Given the description of an element on the screen output the (x, y) to click on. 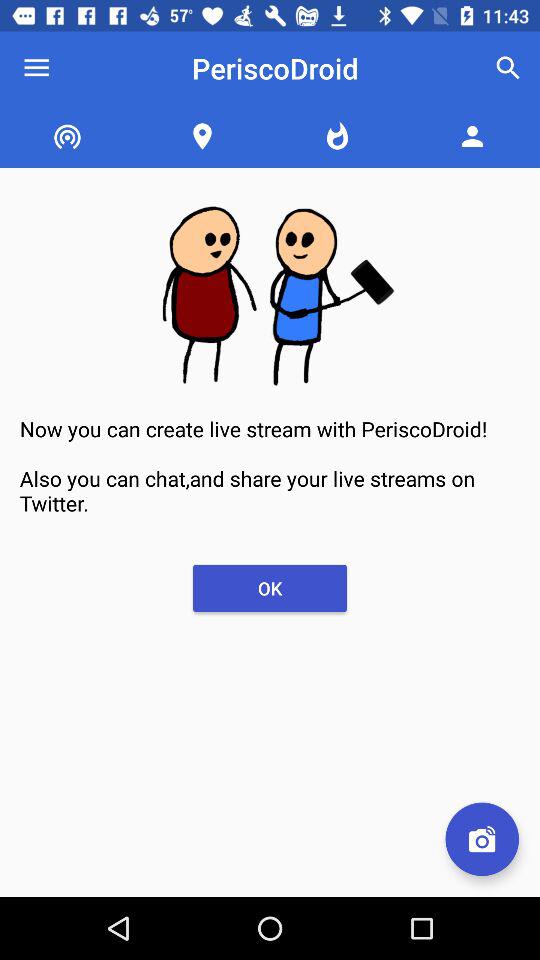
choose item next to the periscodroid item (508, 67)
